Given the description of an element on the screen output the (x, y) to click on. 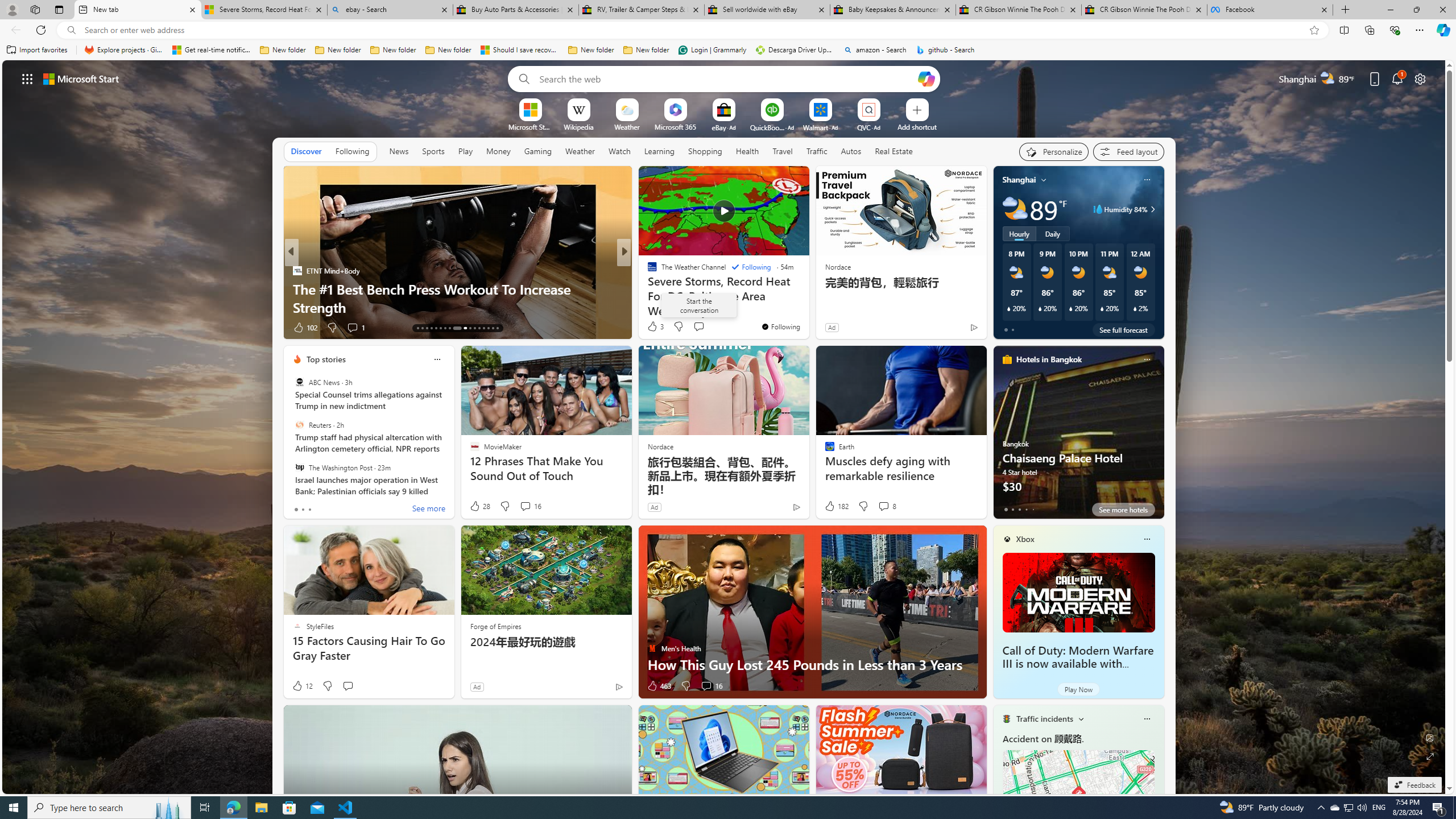
View comments 16 Comment (710, 685)
